Given the description of an element on the screen output the (x, y) to click on. 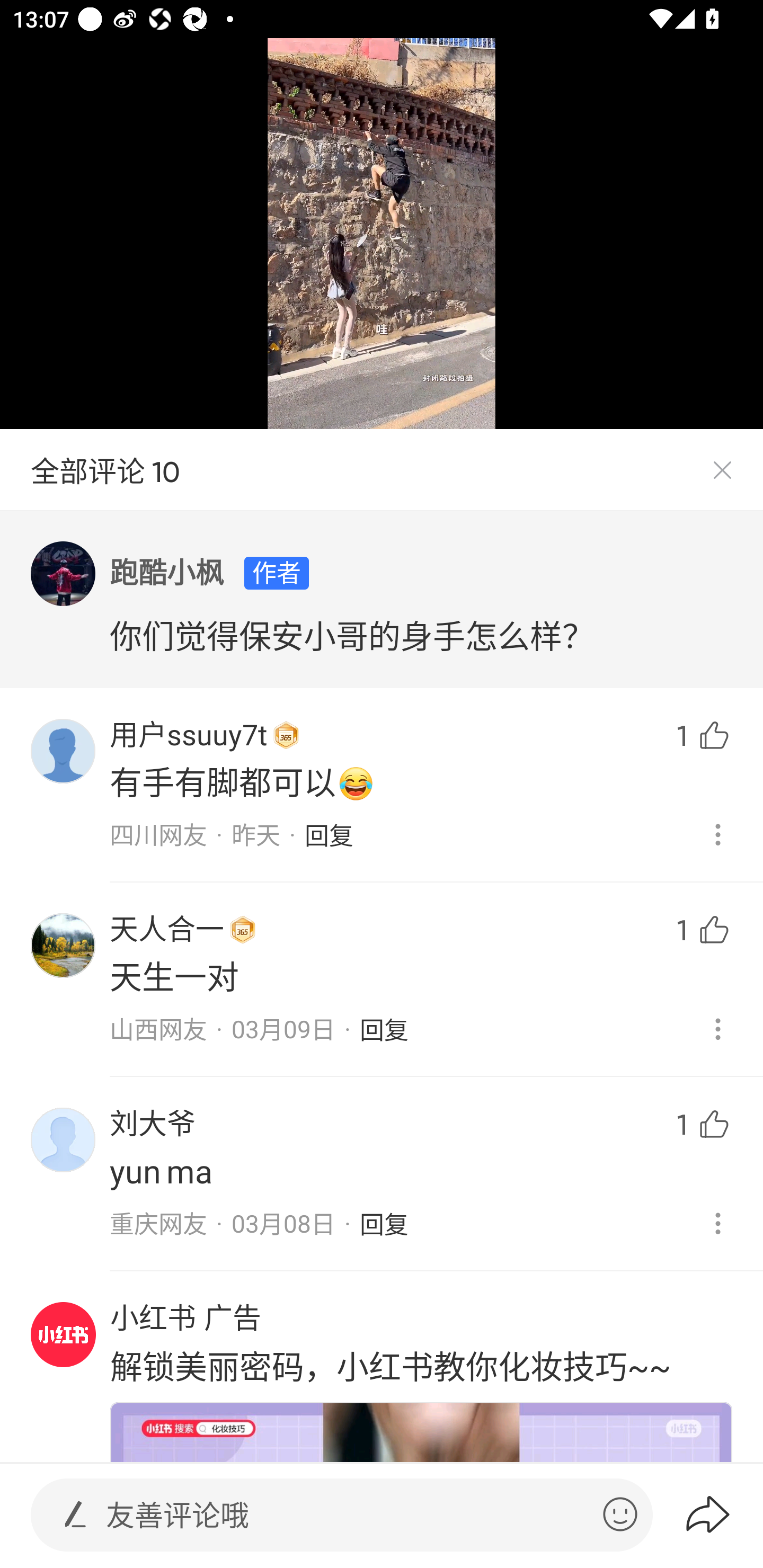
全部评论 10 关闭 (381, 470)
关闭 (722, 470)
跑酷小枫 作者 你们觉得保安小哥的身手怎么样？ (381, 599)
跑酷小枫 (166, 572)
UserRightLabel_OneMedalView 勋章 (285, 735)
赞 126 (696, 979)
UserRightLabel_OneMedalView 勋章 (242, 929)
刘大爷 1  yun ma 重庆网友 · 03月08日 · 回复 回复评论  评论分享与反馈 (381, 1160)
收藏 (696, 1258)
播放器 (60, 1331)
解锁美丽密码，小红书教你化妆技巧~~ (389, 1365)
友善评论哦 发表评论 (346, 1515)
 分享 (723, 1514)
 (75, 1514)
 (619, 1514)
